Given the description of an element on the screen output the (x, y) to click on. 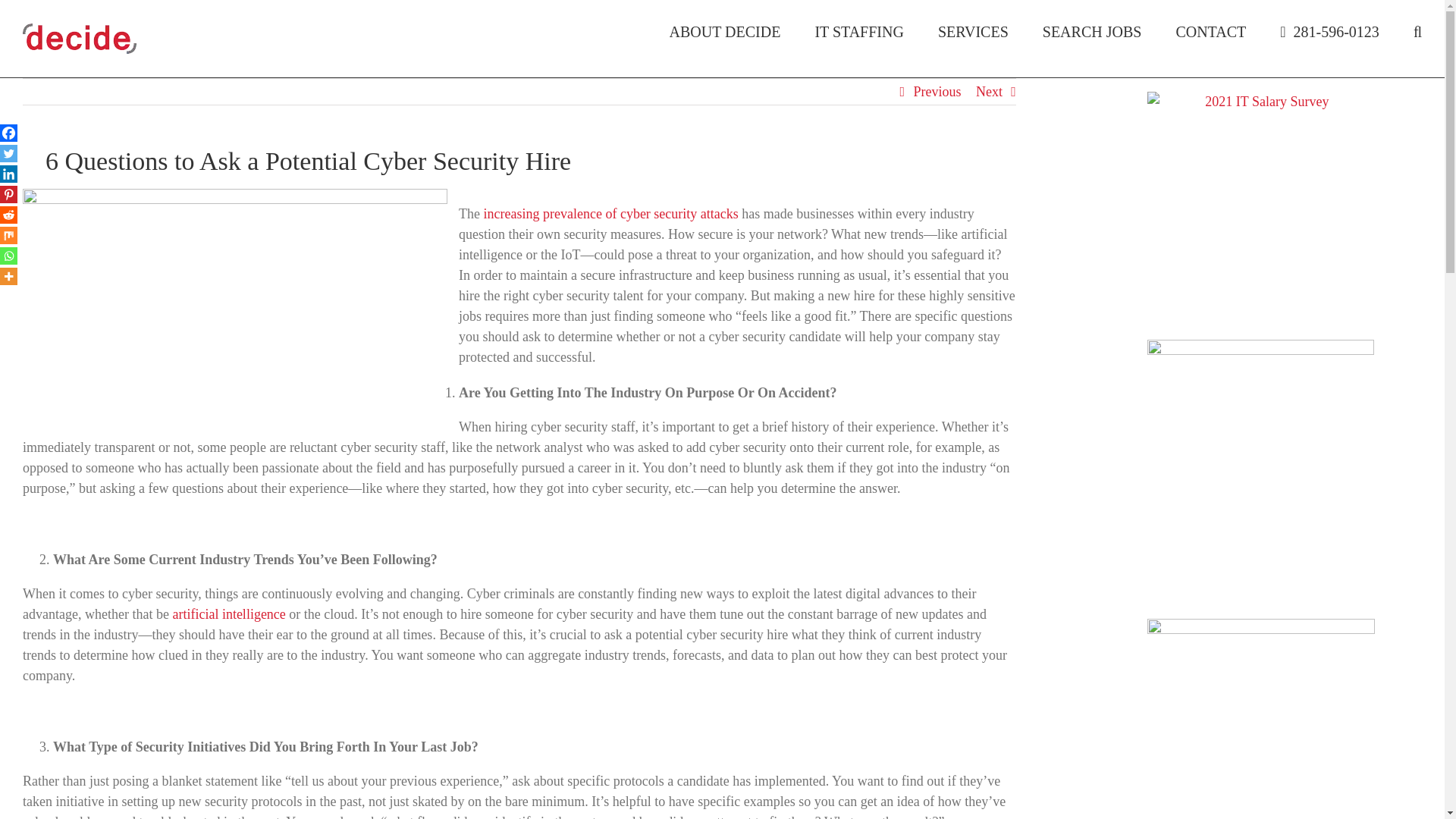
Reddit (8, 214)
SEARCH JOBS (1091, 31)
CONTACT (1210, 31)
ABOUT DECIDE (724, 31)
Pinterest (8, 194)
Linkedin (8, 173)
More (8, 276)
Twitter (8, 153)
281-596-0123 (1328, 31)
Mix (8, 235)
